Given the description of an element on the screen output the (x, y) to click on. 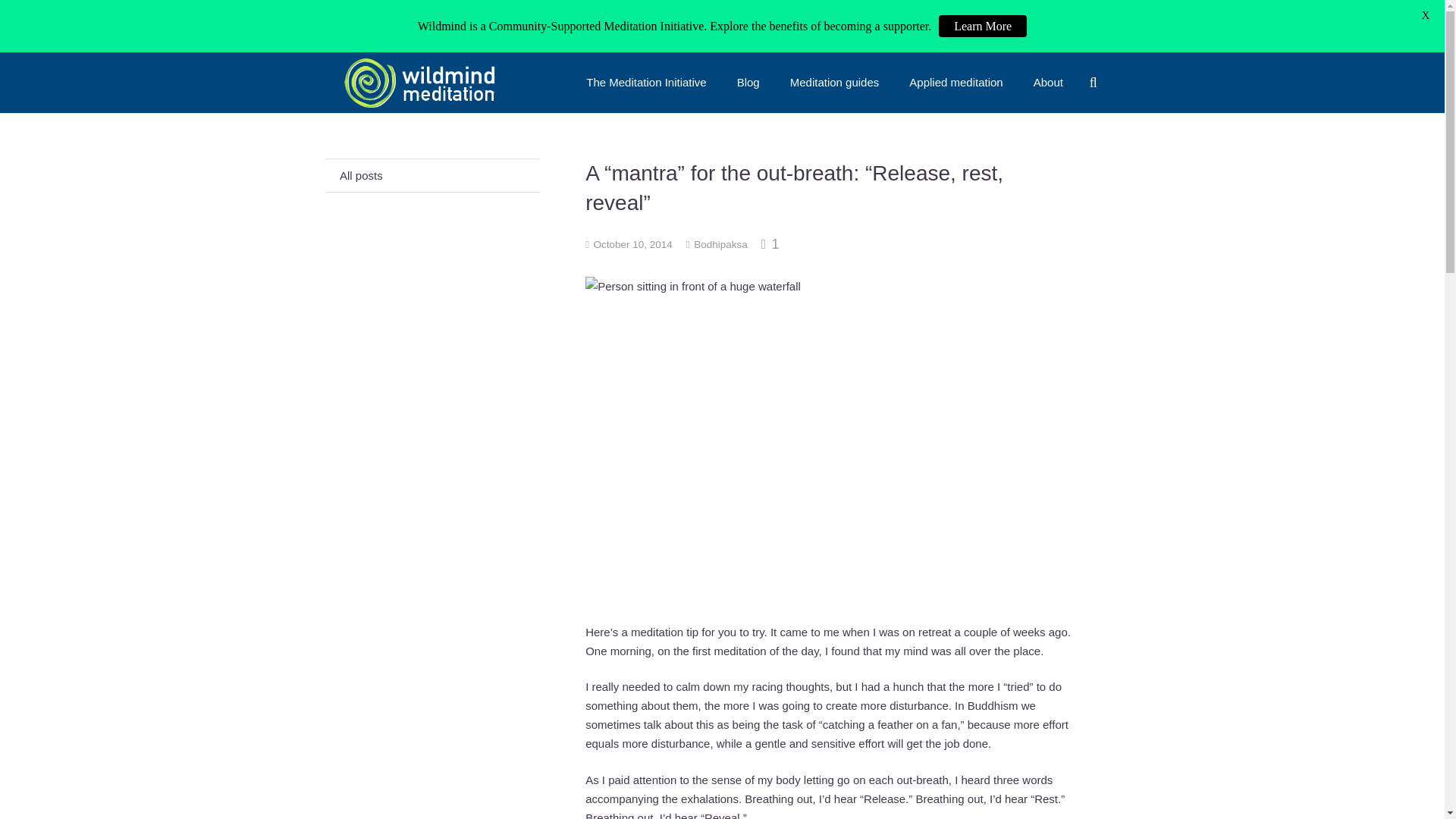
All posts (433, 174)
Meditation guides (834, 82)
The Meditation Initiative (645, 82)
